Given the description of an element on the screen output the (x, y) to click on. 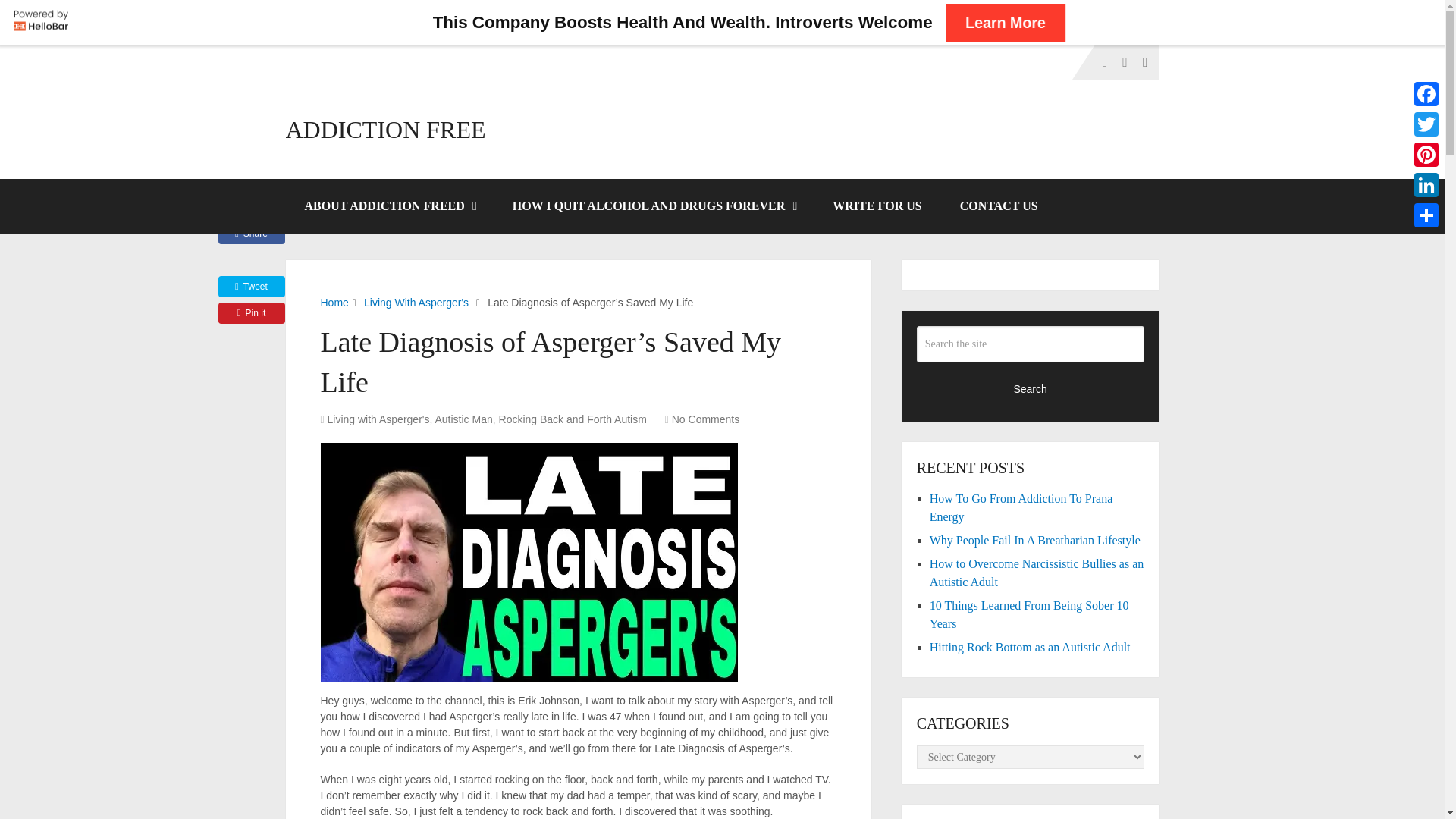
View all posts in Rocking Back and Forth Autism (572, 419)
ADDICTION FREE (384, 129)
ABOUT ADDICTION FREED (389, 206)
HOW I QUIT ALCOHOL AND DRUGS FOREVER (653, 206)
Home (333, 302)
Rocking Back and Forth Autism (572, 419)
No Comments (705, 419)
Autistic Man (464, 419)
WRITE FOR US (876, 206)
Living with Asperger's (378, 419)
Living With Asperger'S (416, 302)
View all posts in Autistic Man (464, 419)
View all posts in Living with Asperger's (378, 419)
CONTACT US (998, 206)
